Given the description of an element on the screen output the (x, y) to click on. 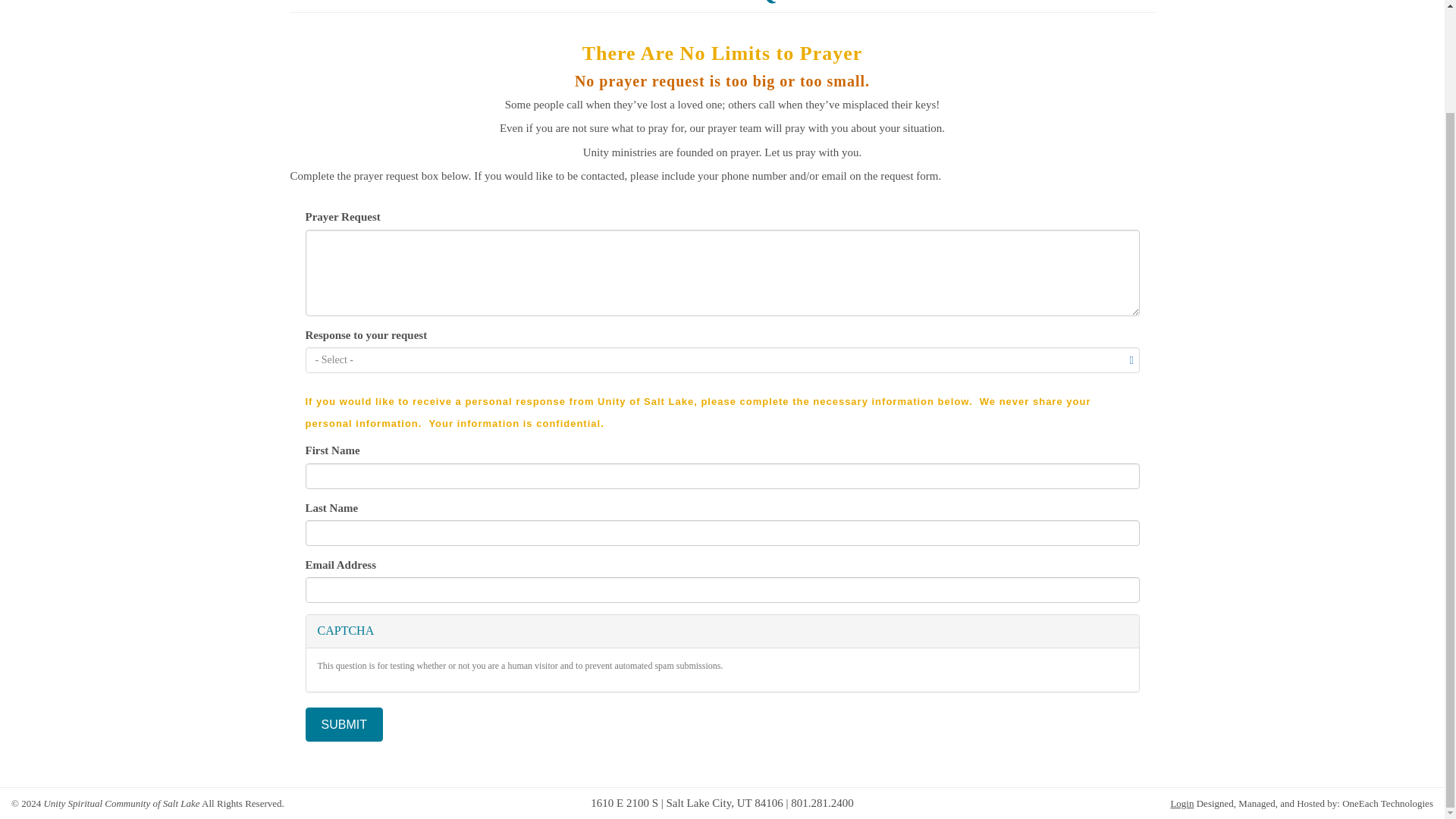
Login (1181, 803)
OneEach Technologies (1387, 803)
CAPTCHA (721, 631)
SUBMIT (342, 724)
